Given the description of an element on the screen output the (x, y) to click on. 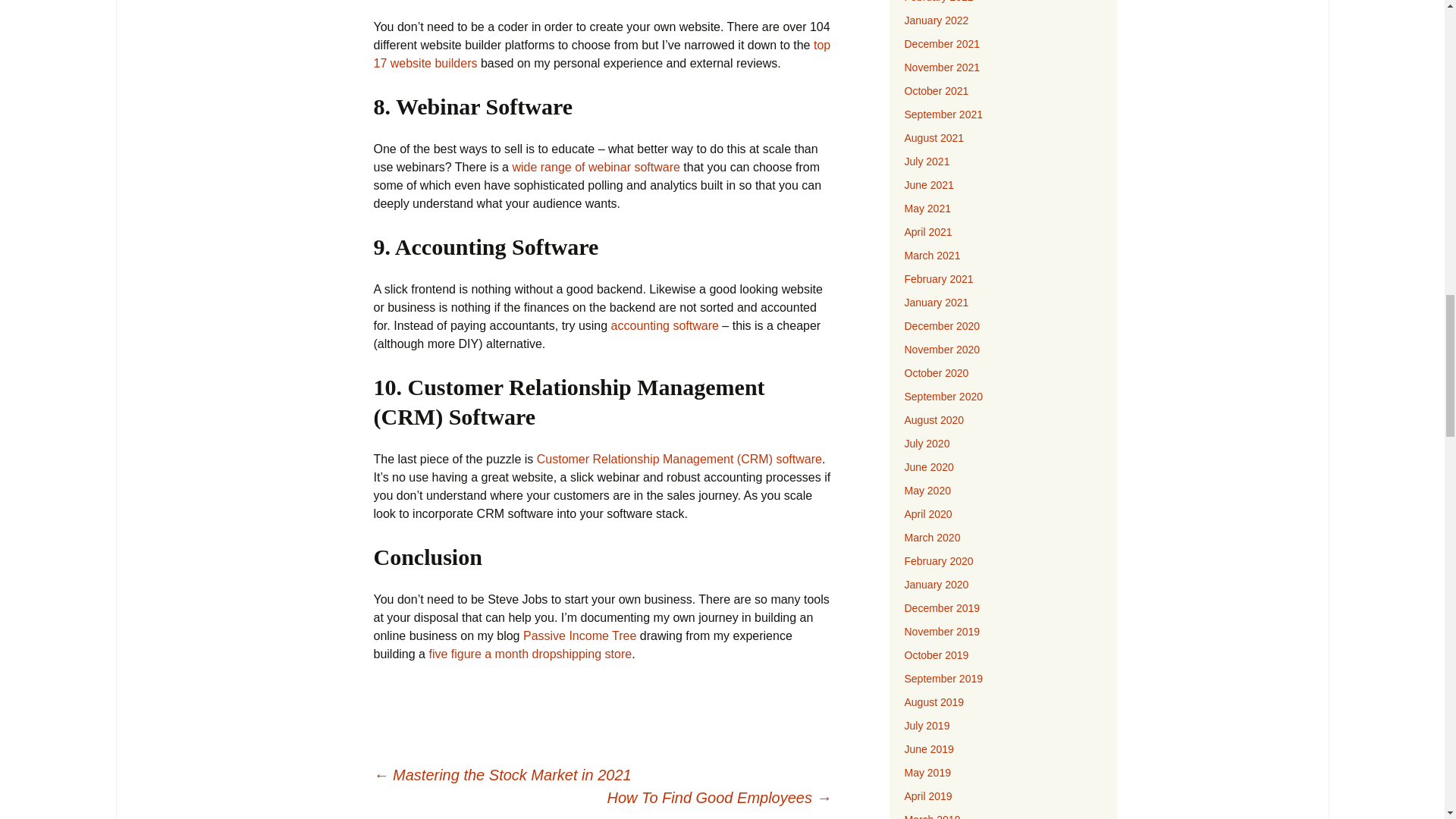
Passive Income Tree (579, 635)
wide range of webinar software (597, 166)
accounting software (665, 325)
top 17 website builders (600, 53)
five figure a month dropshipping store (529, 653)
